Given the description of an element on the screen output the (x, y) to click on. 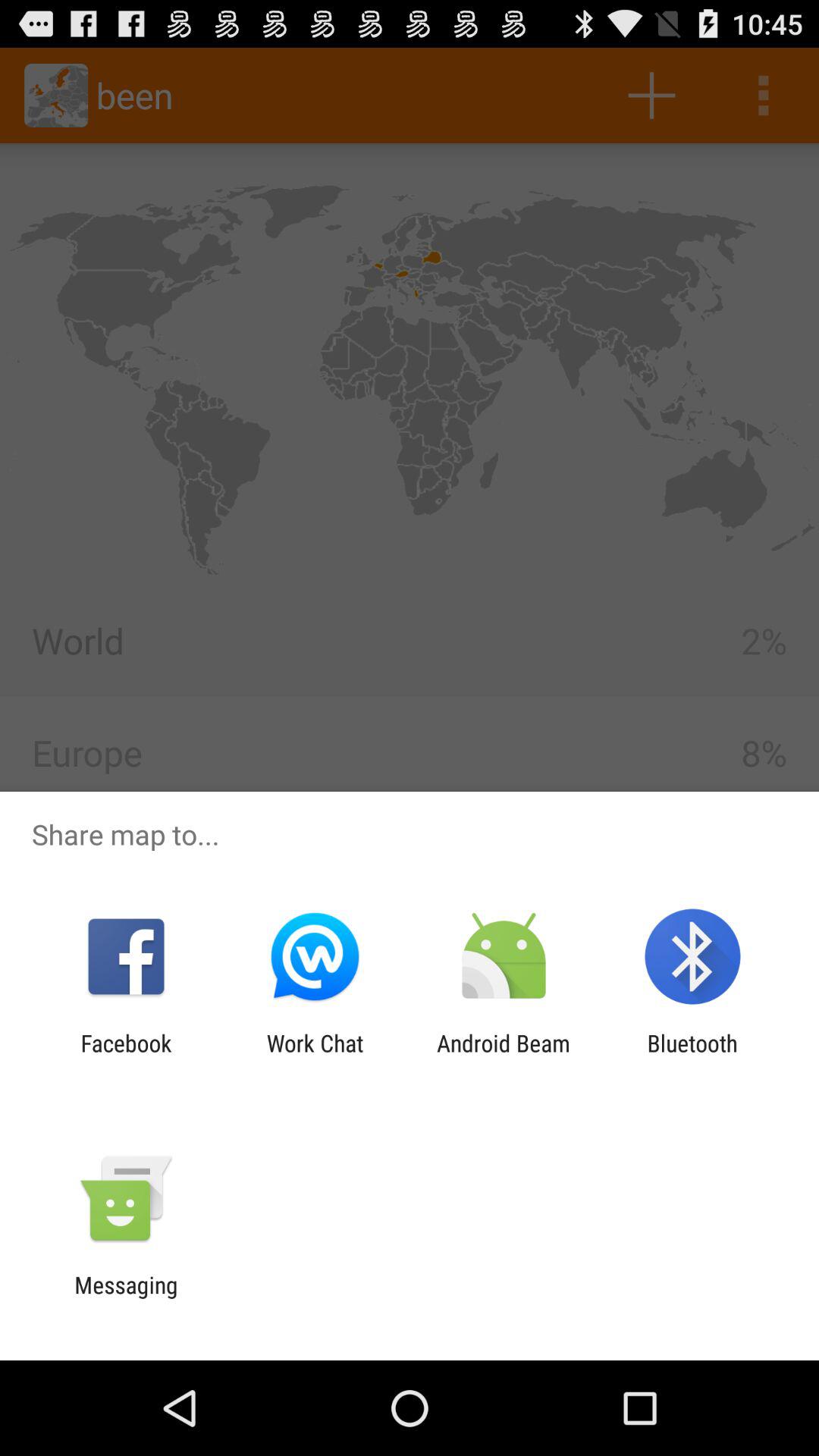
turn off bluetooth app (692, 1056)
